Given the description of an element on the screen output the (x, y) to click on. 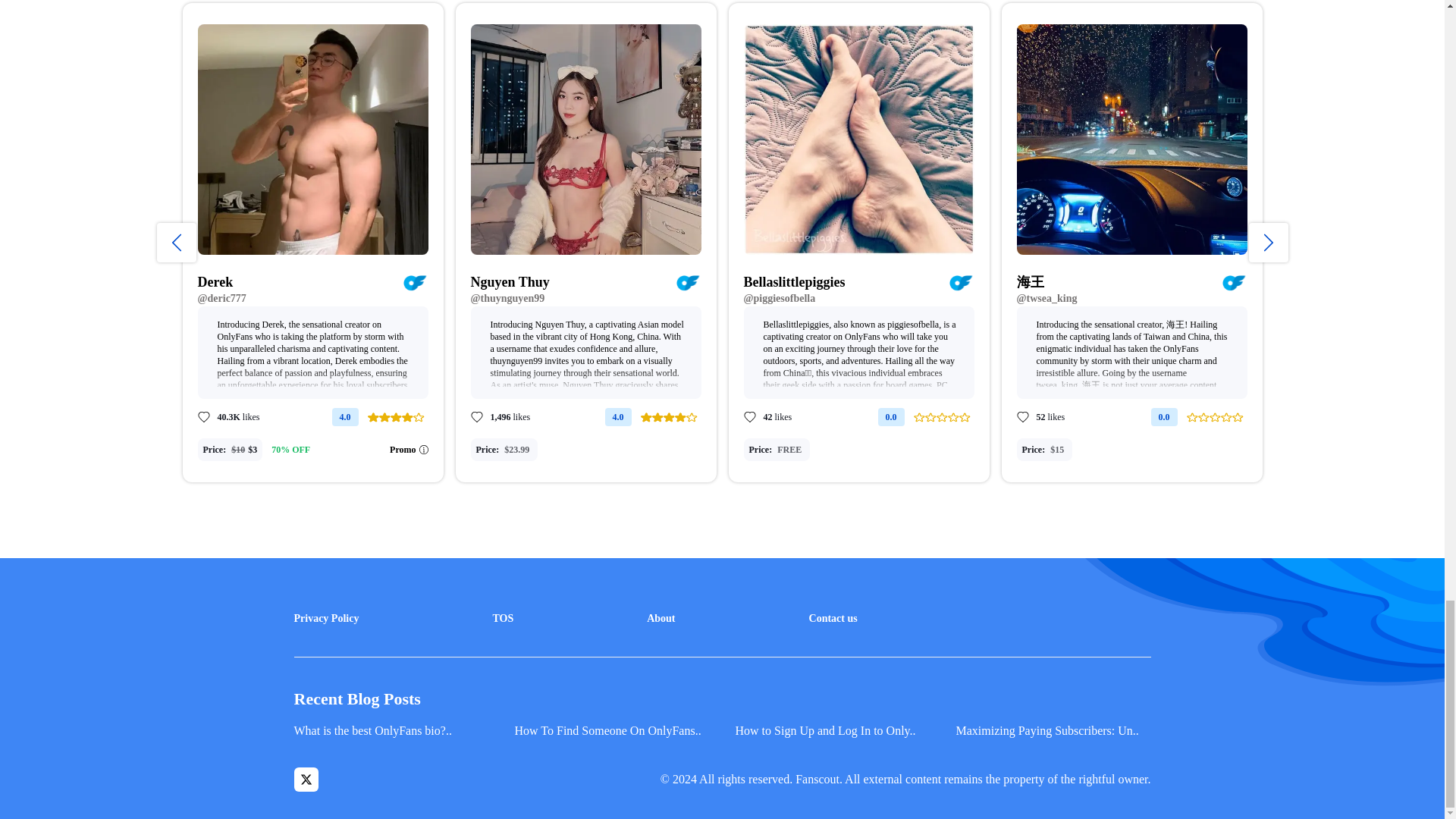
Recent Blog Posts (722, 698)
TOS (502, 618)
Contact us (833, 618)
Promo (409, 449)
About (660, 618)
Privacy Policy (326, 618)
